Given the description of an element on the screen output the (x, y) to click on. 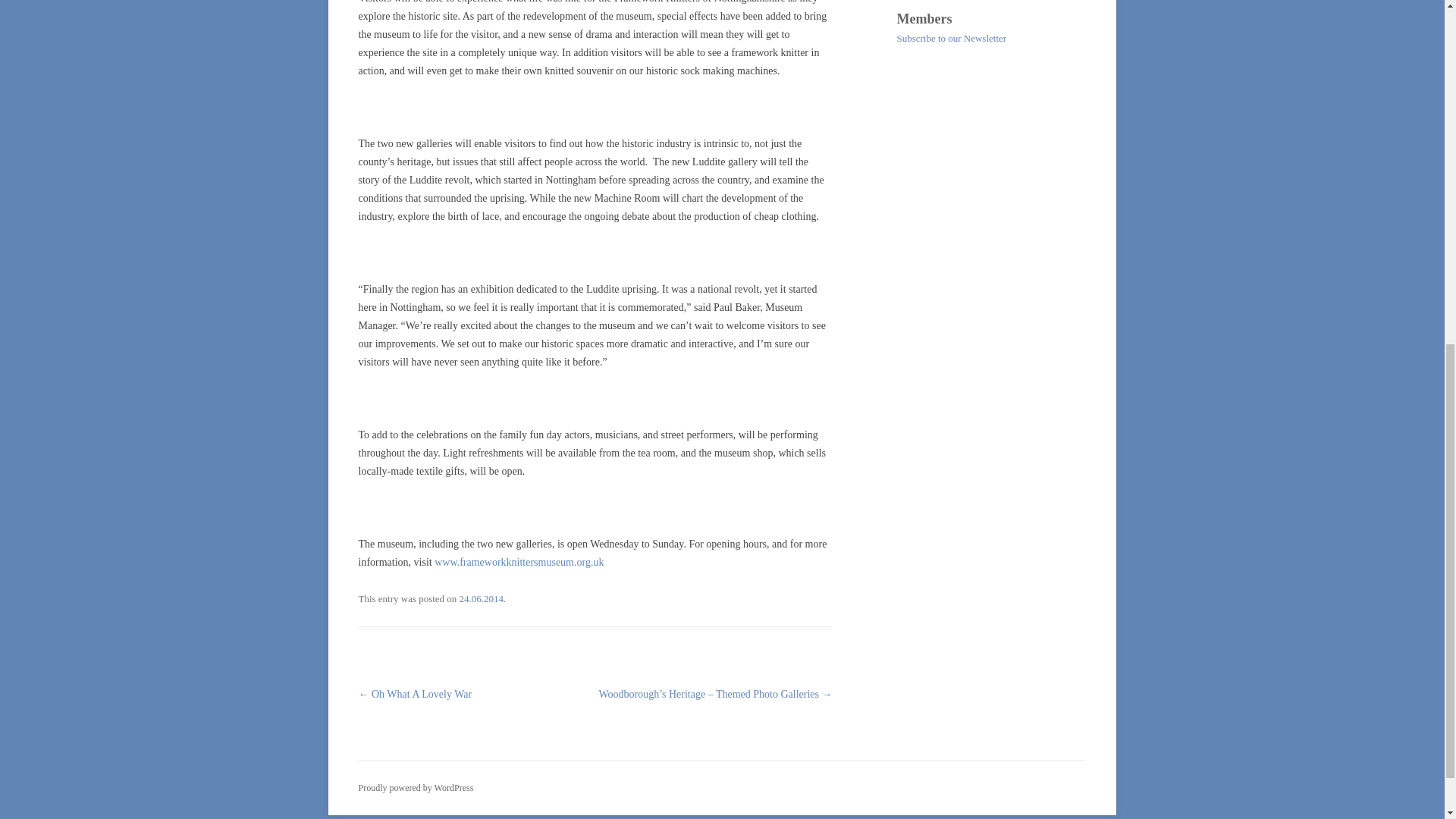
Subscribe to our Newsletter (951, 38)
Proudly powered by WordPress (415, 787)
www.frameworkknittersmuseum.org.uk (518, 562)
Semantic Personal Publishing Platform (415, 787)
24.06.2014 (481, 598)
8:12 pm (481, 598)
